Given the description of an element on the screen output the (x, y) to click on. 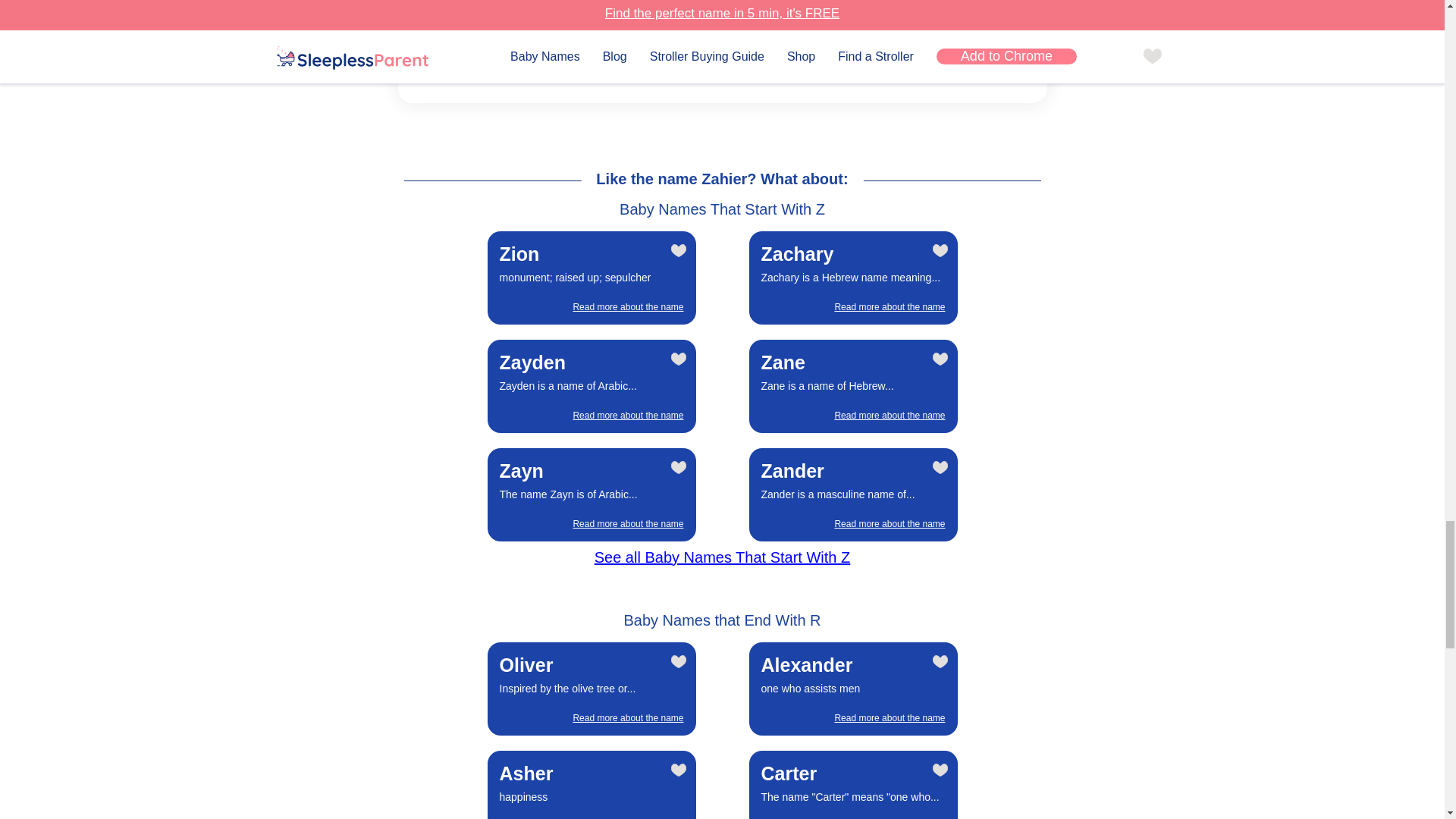
See all Baby Names That Start With Z (591, 494)
Most popular baby boys names in 2021 (722, 556)
